Given the description of an element on the screen output the (x, y) to click on. 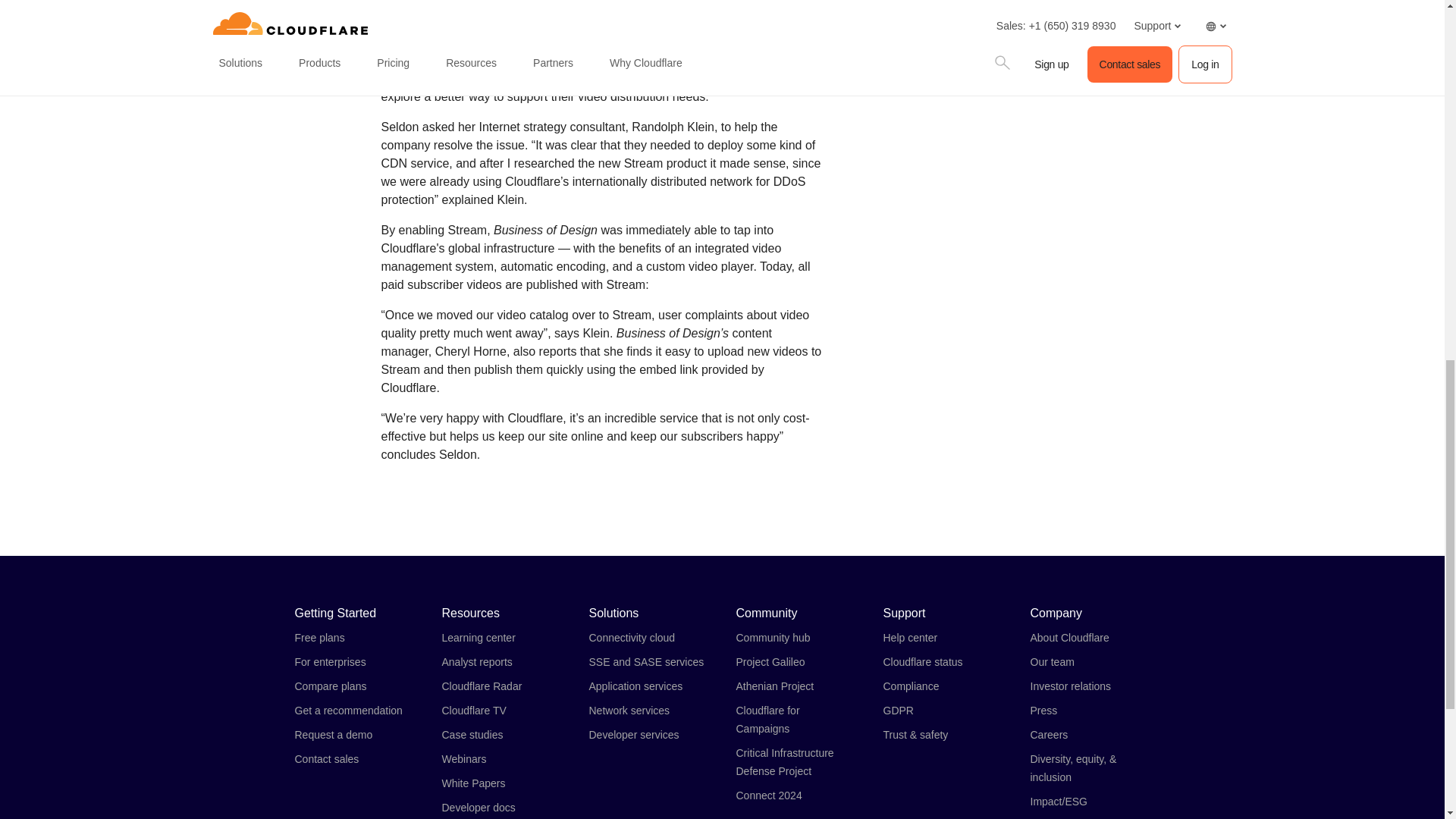
Free plans (318, 637)
